Given the description of an element on the screen output the (x, y) to click on. 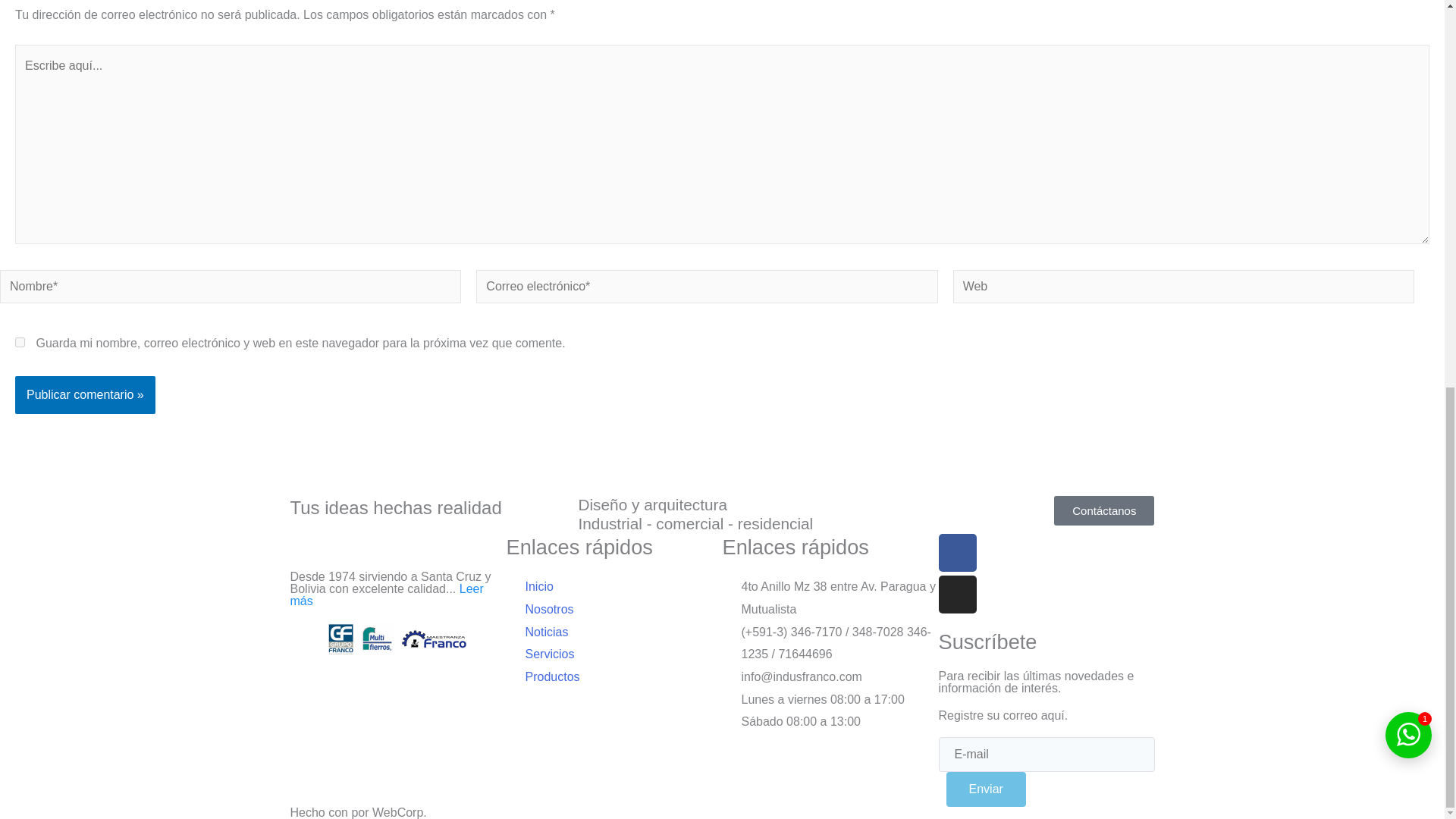
yes (19, 342)
